Given the description of an element on the screen output the (x, y) to click on. 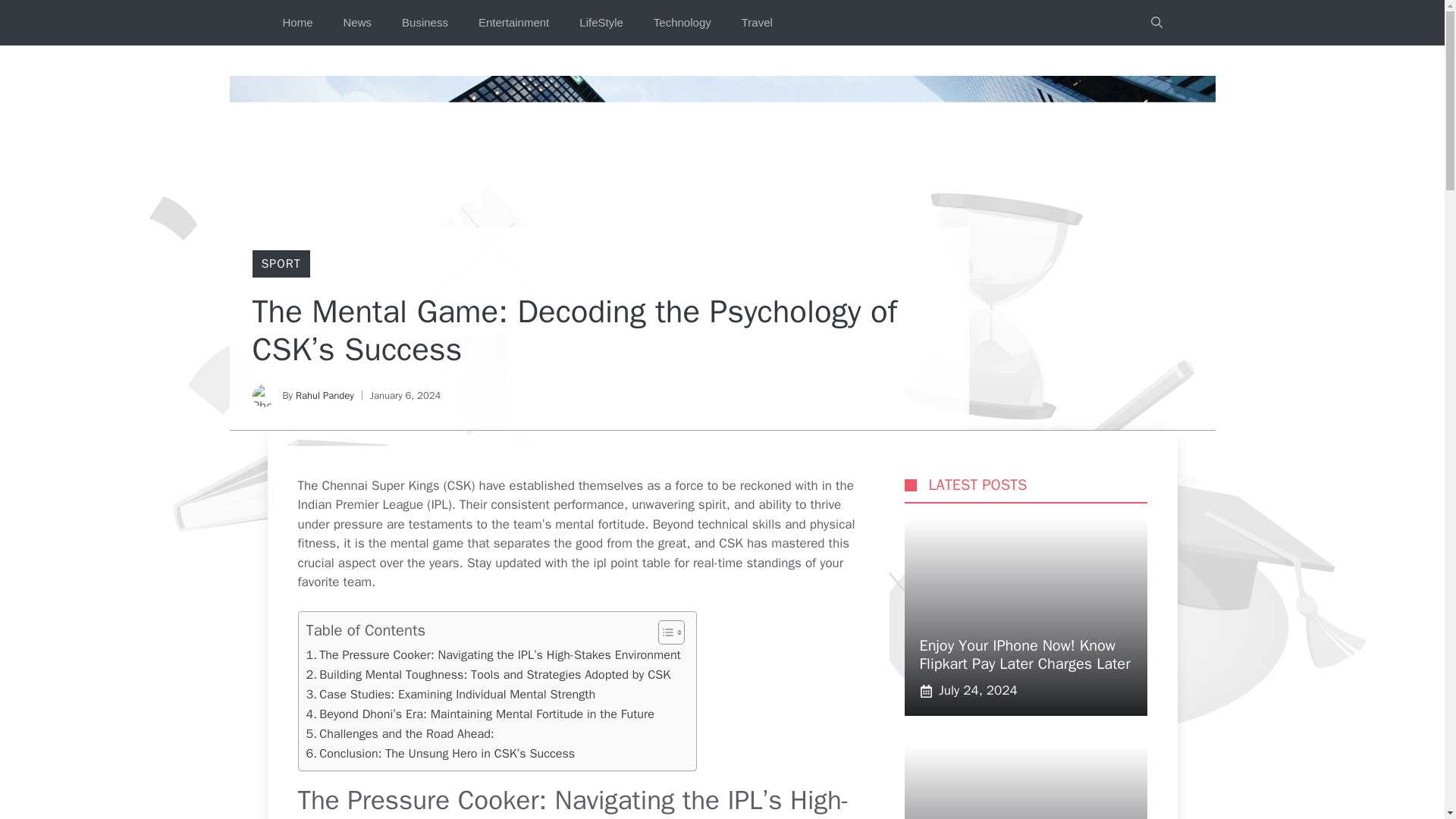
Challenges and the Road Ahead: (400, 733)
Case Studies: Examining Individual Mental Strength (450, 694)
LifeStyle (601, 22)
Case Studies: Examining Individual Mental Strength (450, 694)
Rahul Pandey (324, 395)
Technology (682, 22)
Travel (756, 22)
Enjoy Your IPhone Now! Know Flipkart Pay Later Charges Later (1023, 654)
ipl point table (631, 562)
